Given the description of an element on the screen output the (x, y) to click on. 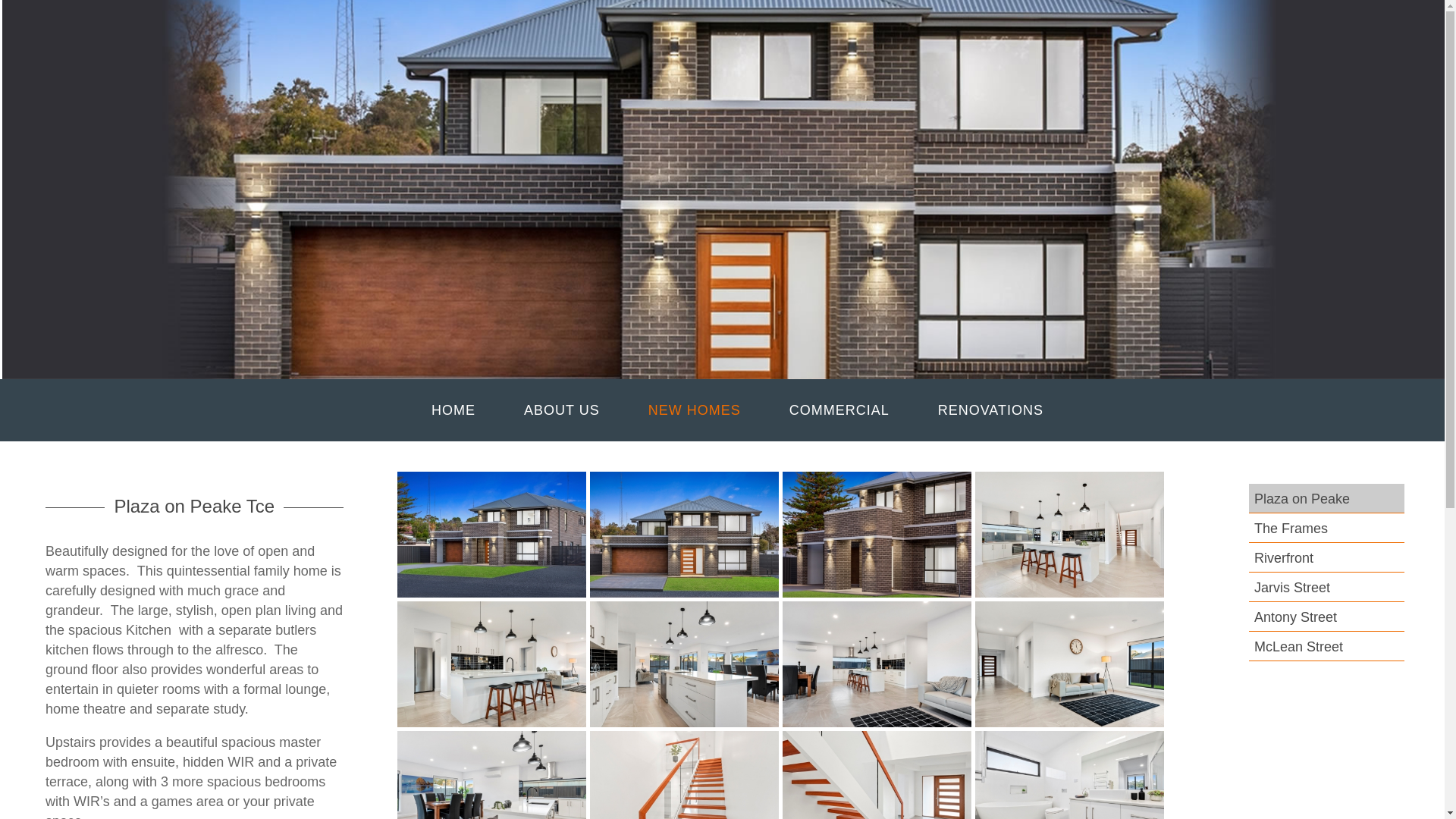
COMMERCIAL (839, 409)
Jarvis Street (1291, 587)
Riverfront (1283, 557)
HOME (453, 409)
Plaza on Peake (1329, 498)
ABOUT US (561, 409)
NEW HOMES (694, 409)
The Frames (1290, 528)
Antony Street (1294, 616)
RENOVATIONS (990, 409)
